Given the description of an element on the screen output the (x, y) to click on. 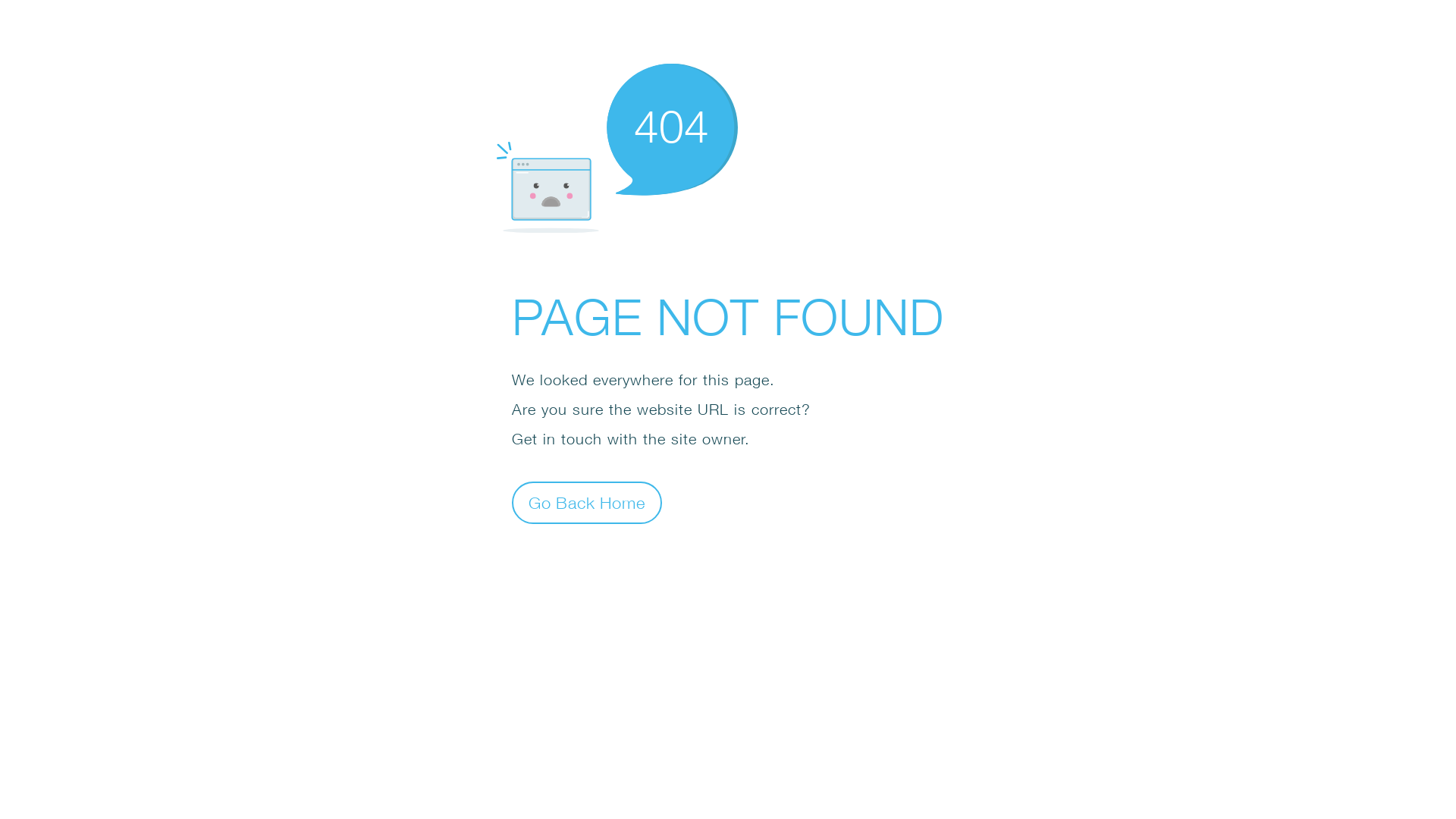
Go Back Home Element type: text (586, 502)
